Given the description of an element on the screen output the (x, y) to click on. 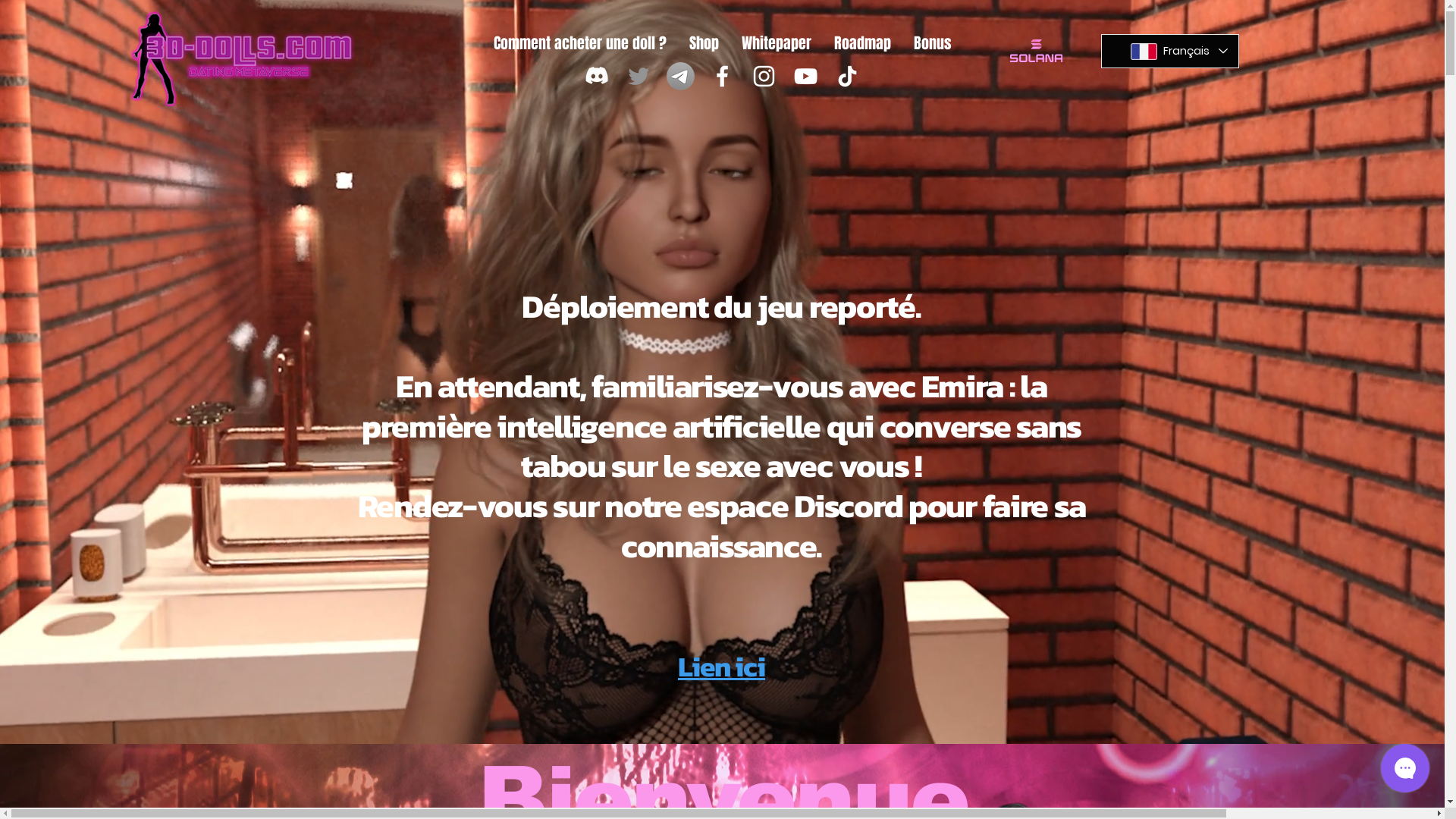
Whitepaper Element type: text (775, 43)
Bonus Element type: text (932, 43)
Wix Chat Element type: hover (1408, 771)
Shop Element type: text (703, 43)
Li Element type: text (688, 666)
en ici Element type: text (732, 666)
Comment acheter une doll ? Element type: text (579, 43)
Roadmap Element type: text (861, 43)
